Given the description of an element on the screen output the (x, y) to click on. 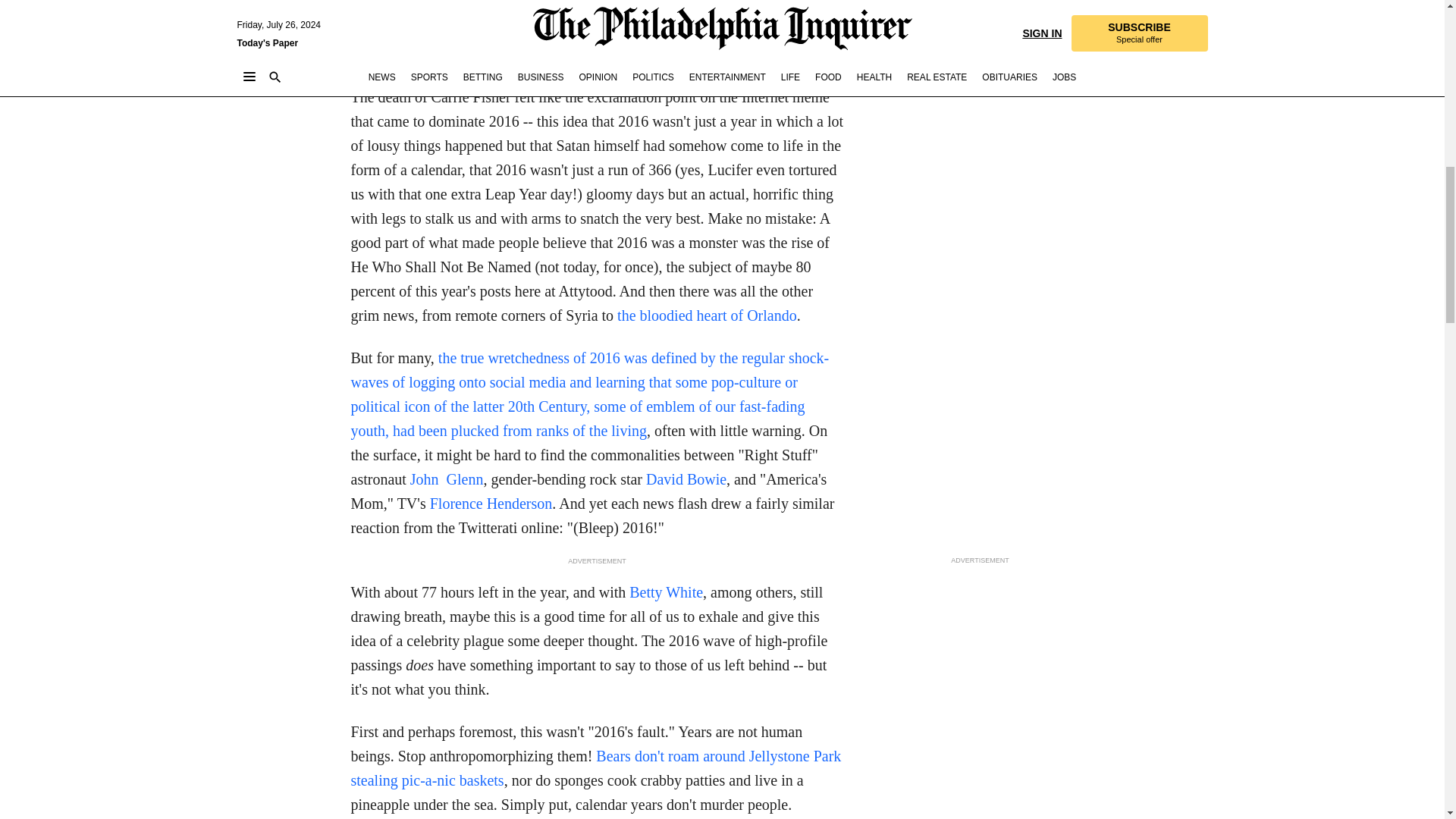
the bloodied heart of Orlando (706, 315)
